Given the description of an element on the screen output the (x, y) to click on. 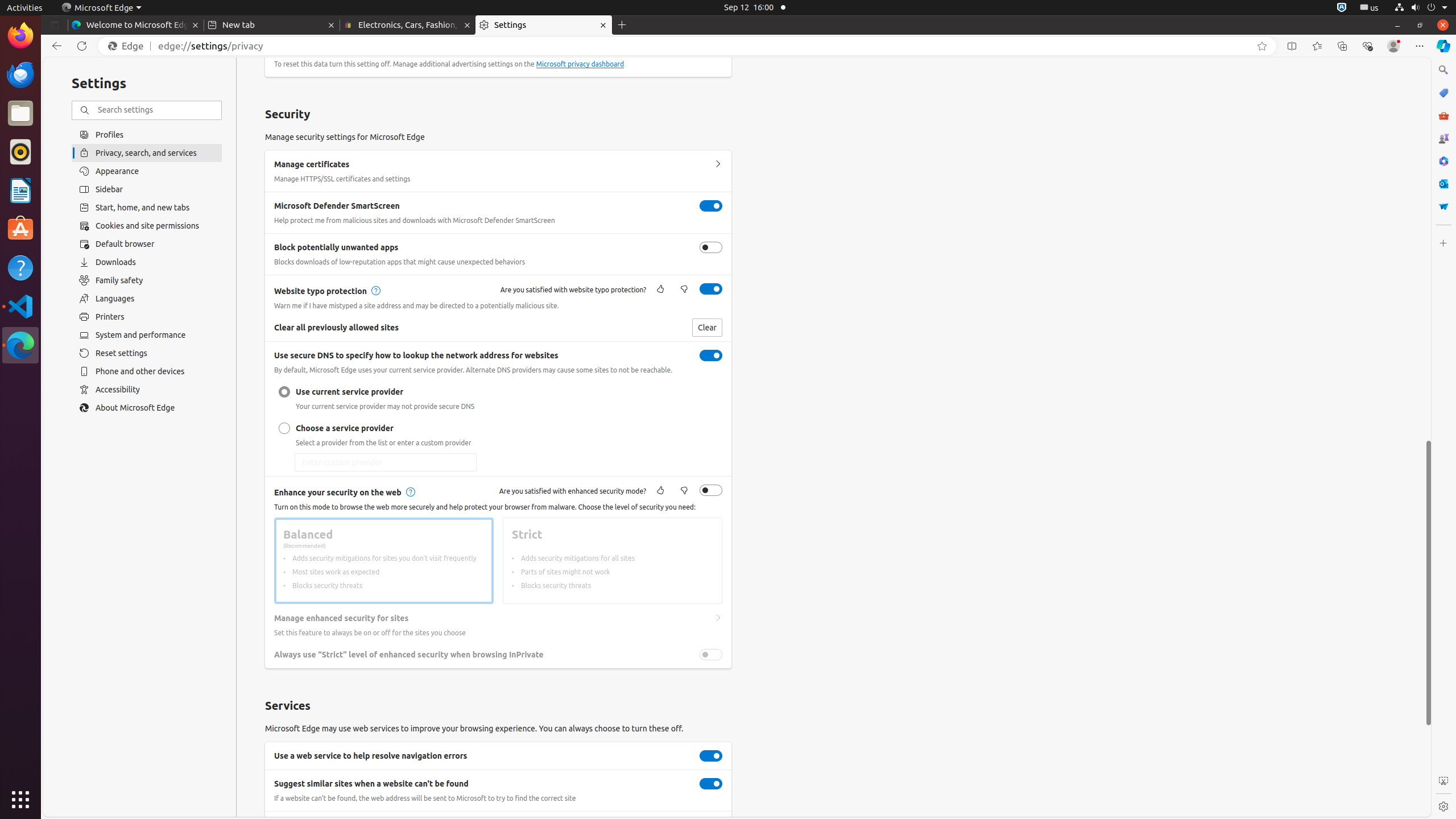
Help Element type: push-button (20, 267)
Printers Element type: tree-item (146, 316)
Profile 1 Profile, Please sign in Element type: push-button (1392, 46)
Microsoft Defender SmartScreen Element type: check-box (710, 205)
:1.72/StatusNotifierItem Element type: menu (1341, 7)
